Given the description of an element on the screen output the (x, y) to click on. 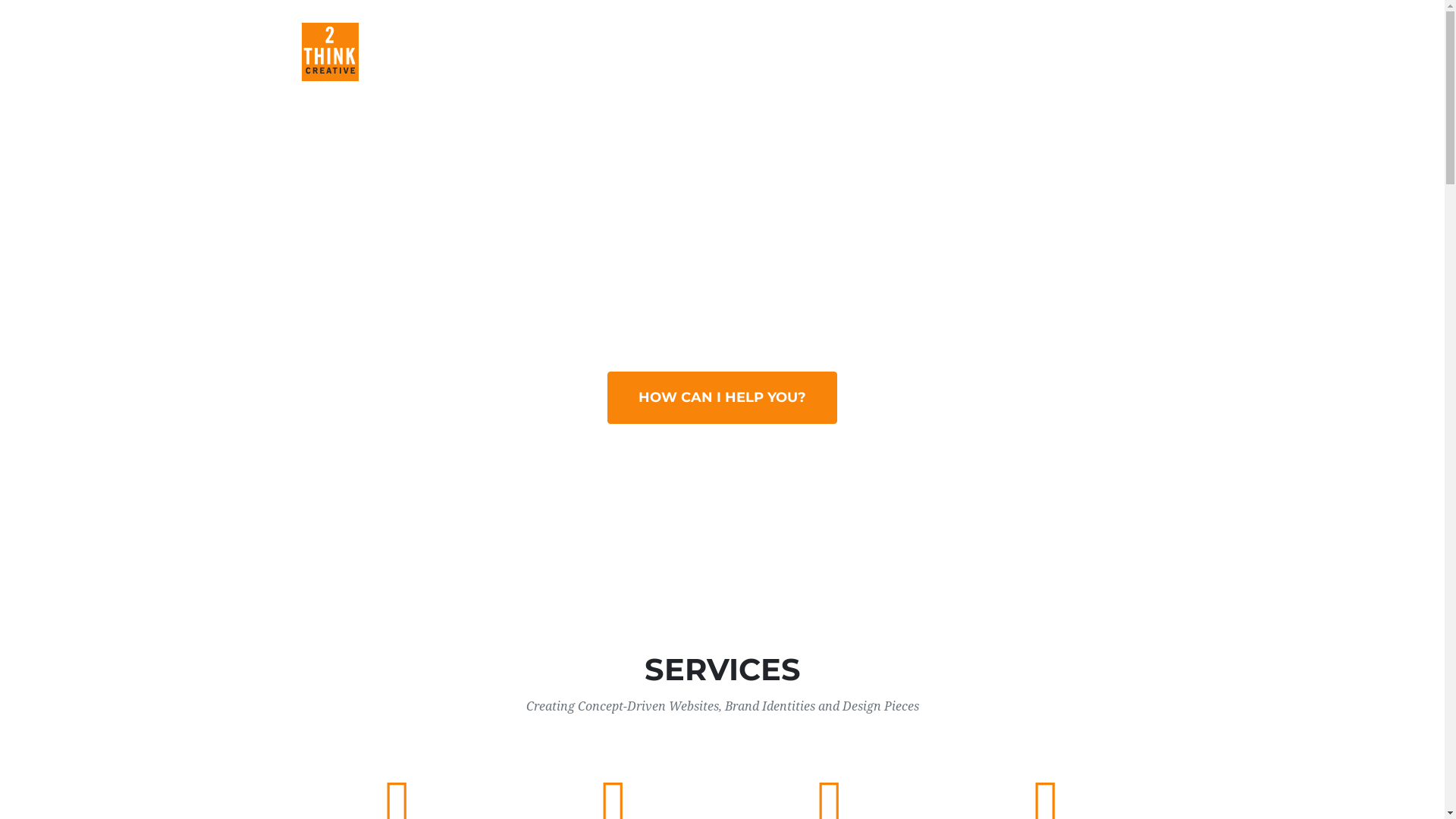
CLIENTS Element type: text (1026, 51)
CONTACT Element type: text (1103, 51)
PORTFOLIO Element type: text (878, 51)
HOW CAN I HELP YOU? Element type: text (722, 397)
SERVICES Element type: text (790, 51)
ABOUT Element type: text (957, 51)
